Given the description of an element on the screen output the (x, y) to click on. 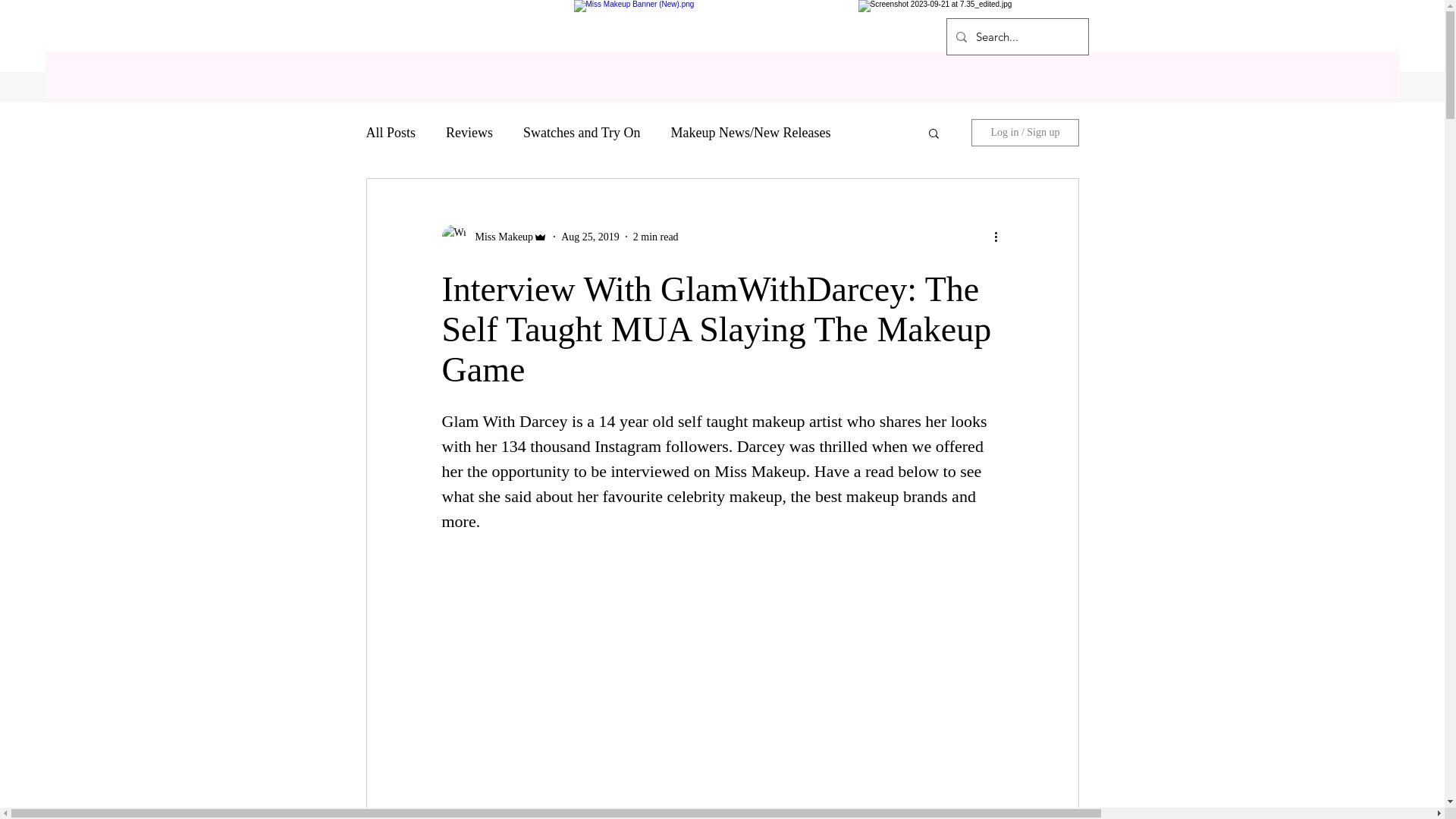
Log in / Sign up Element type: text (1024, 132)
Swatches and Try On Element type: text (581, 132)
All Posts Element type: text (390, 132)
Website Banner.png Element type: hover (721, 36)
Makeup News/New Releases Element type: text (751, 132)
Reviews Element type: text (468, 132)
